Given the description of an element on the screen output the (x, y) to click on. 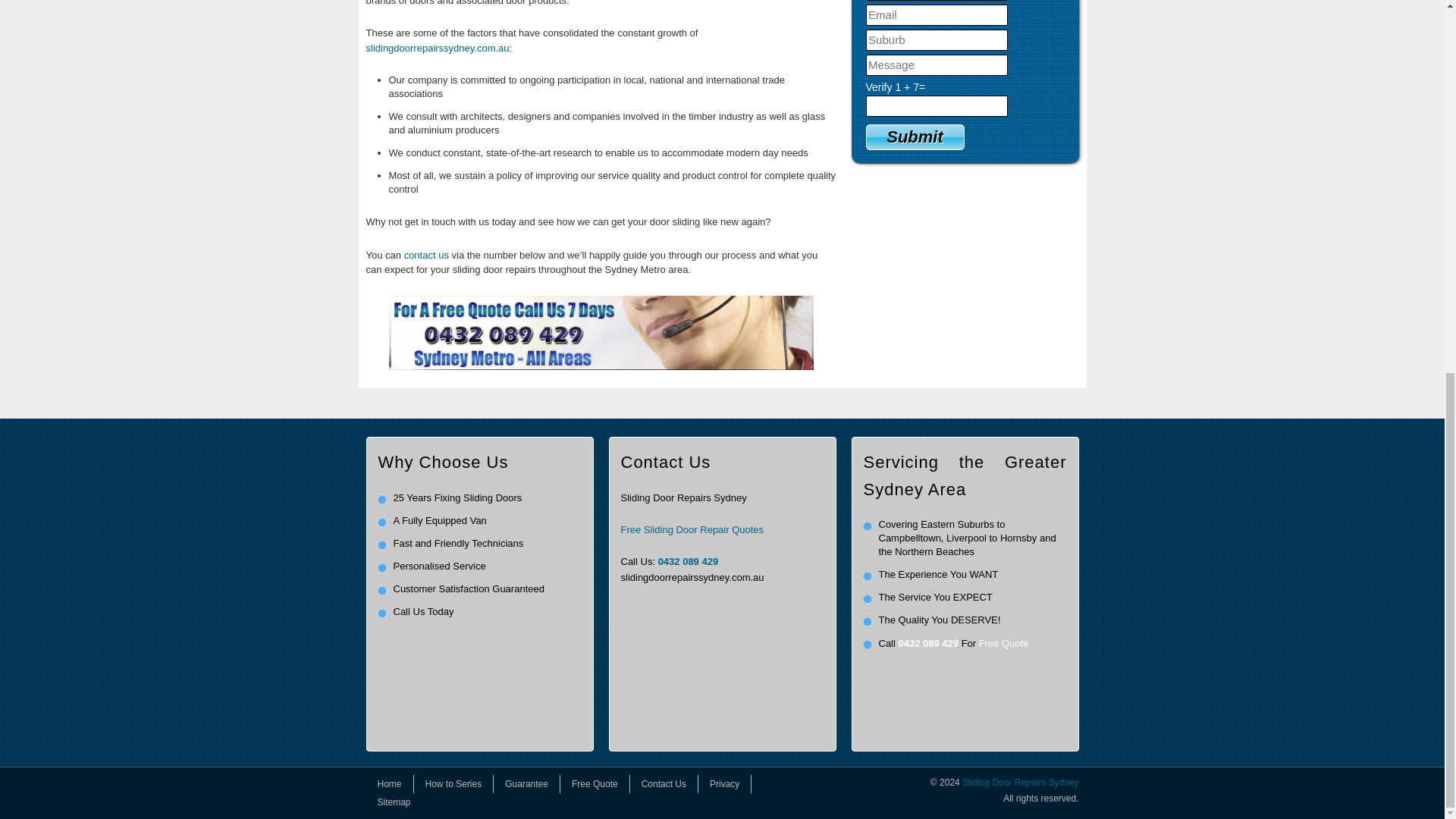
Sitemap (393, 802)
Guarantee (526, 783)
contact us (426, 255)
0432 089 429 (688, 561)
How to Series (454, 783)
Home (389, 783)
Sliding Door Repairs Sydney (1020, 782)
0432 089 429 (928, 643)
Submit (914, 136)
Free Sliding Door Repair Quotes (691, 529)
Free Quote (1003, 643)
Submit (914, 136)
Privacy (724, 783)
slidingdoorrepairssydney.com.au (436, 48)
Contact Us (664, 783)
